Given the description of an element on the screen output the (x, y) to click on. 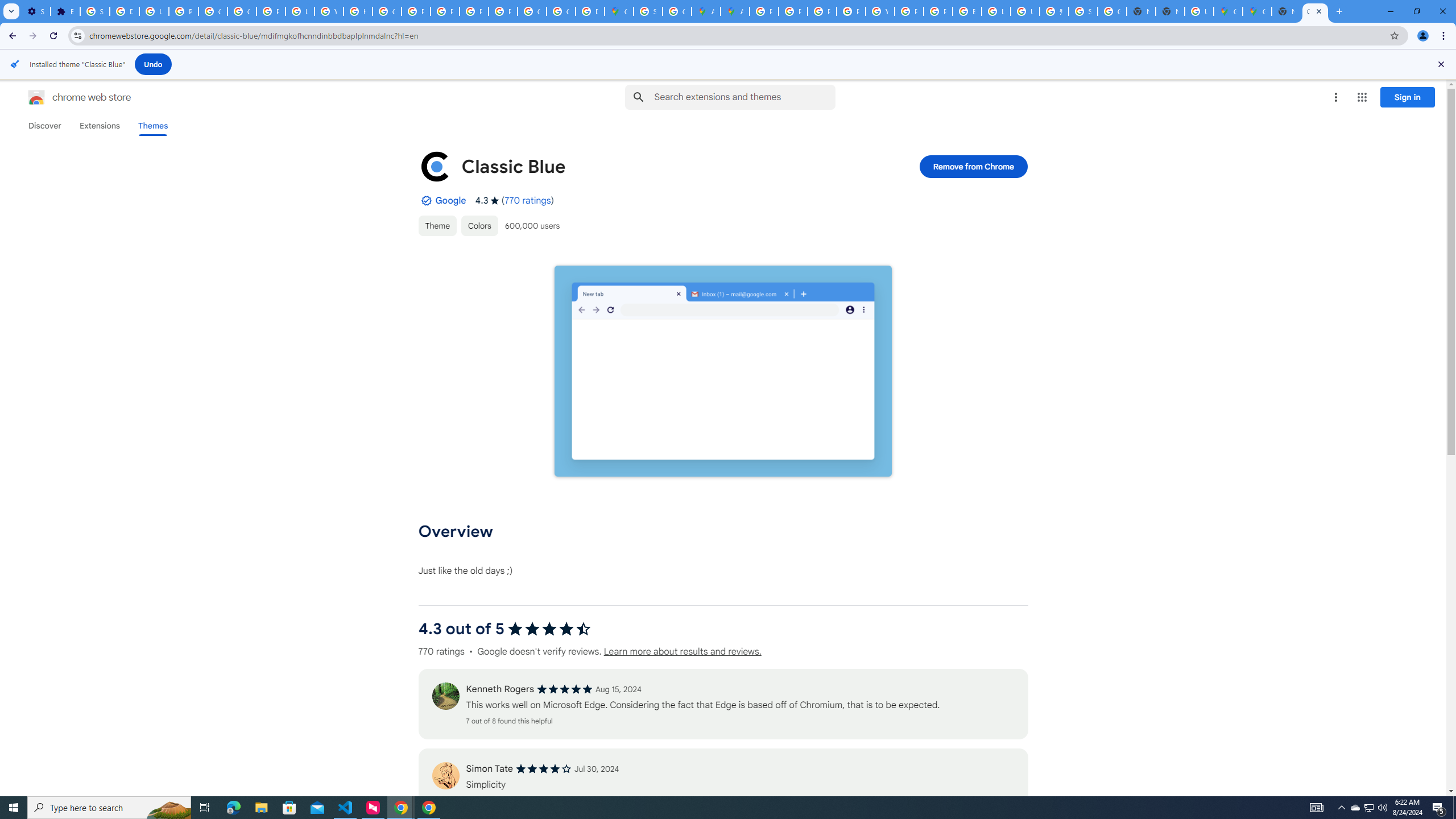
Item media 1 screenshot (722, 370)
Classic Blue - Chrome Web Store (1315, 11)
Colors (479, 225)
4 out of 5 stars (543, 769)
Item logo image for Classic Blue (434, 166)
Undo (153, 64)
Discover (43, 125)
Remove from Chrome (973, 166)
